Given the description of an element on the screen output the (x, y) to click on. 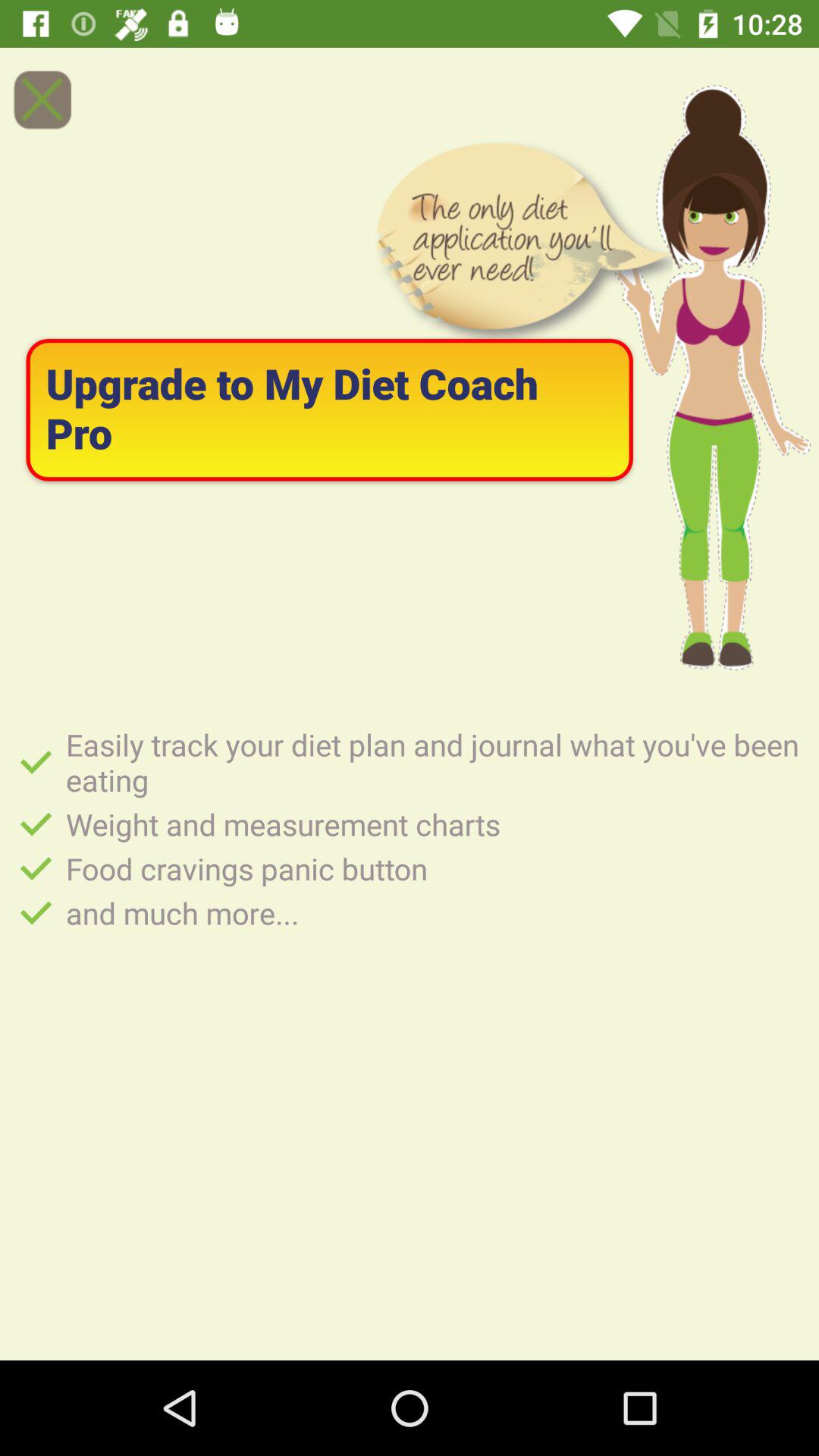
swipe until upgrade to my icon (329, 409)
